Given the description of an element on the screen output the (x, y) to click on. 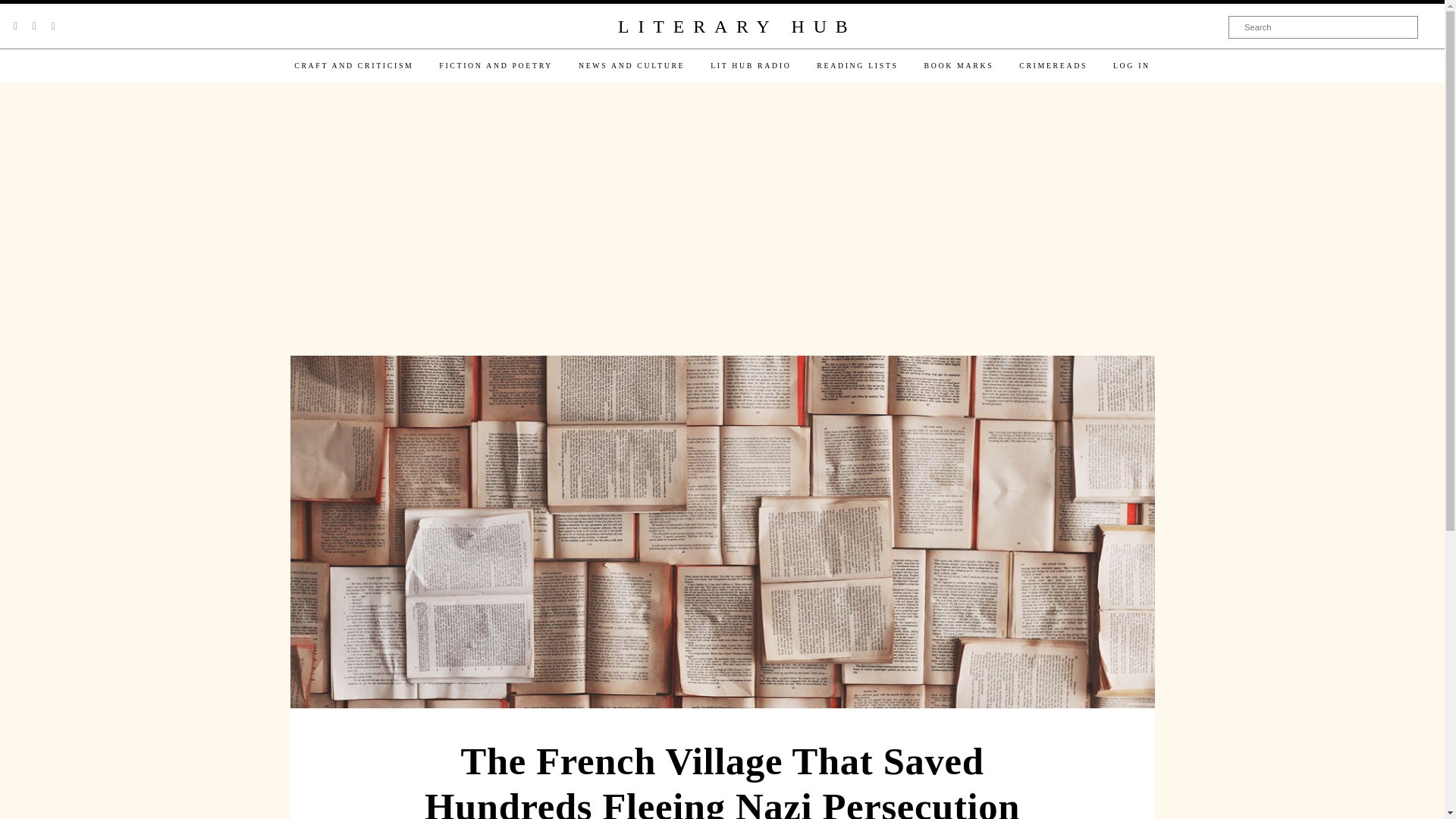
CRAFT AND CRITICISM (353, 65)
FICTION AND POETRY (496, 65)
Search (1323, 26)
LITERARY HUB (736, 26)
NEWS AND CULTURE (631, 65)
